Given the description of an element on the screen output the (x, y) to click on. 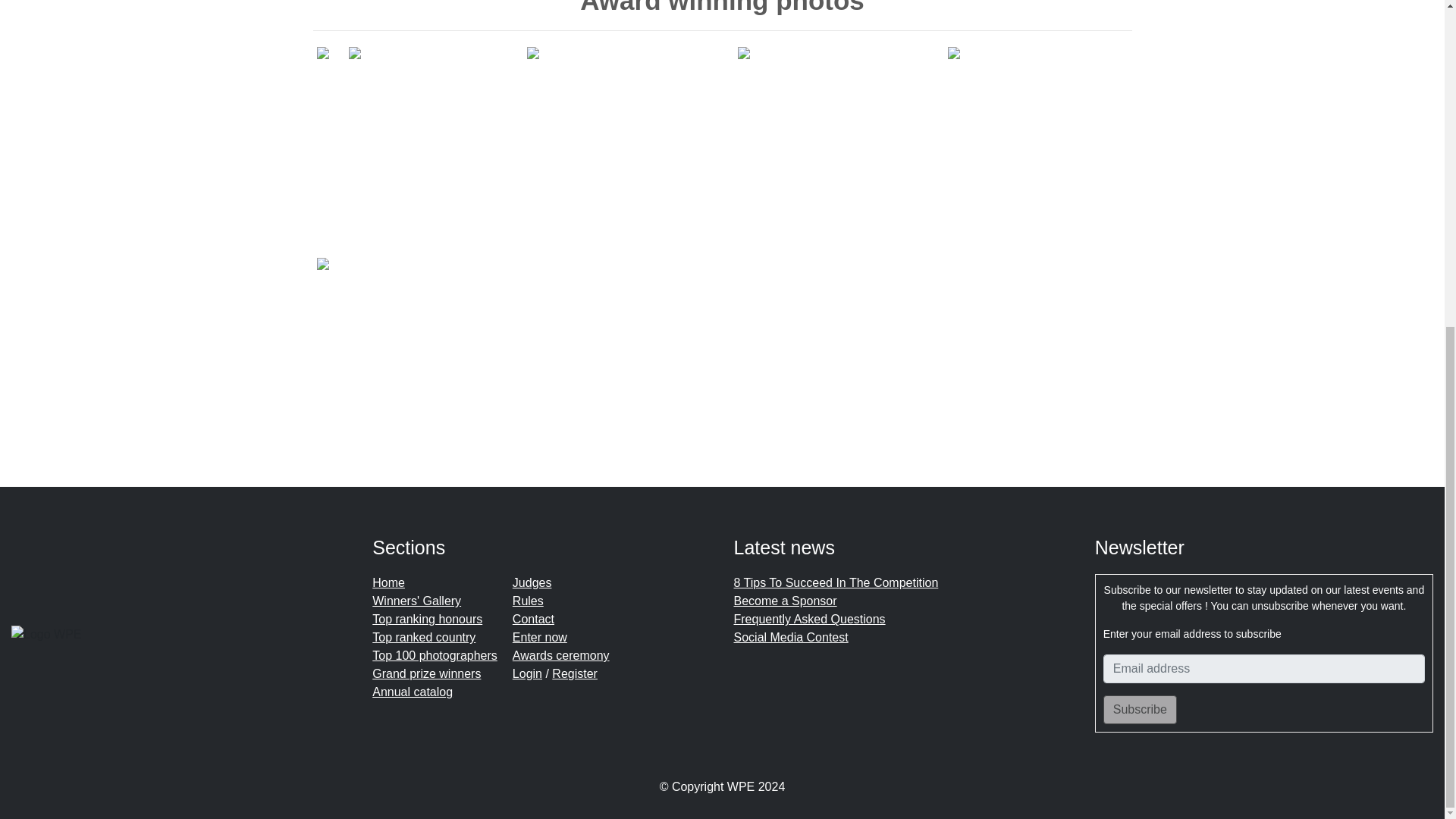
Winners' Gallery (416, 600)
Grand prize winners (426, 673)
Top 100 photographers (434, 655)
Subscribe (1139, 709)
Top ranking honours (426, 618)
Home (388, 582)
Top ranked country (424, 636)
